Given the description of an element on the screen output the (x, y) to click on. 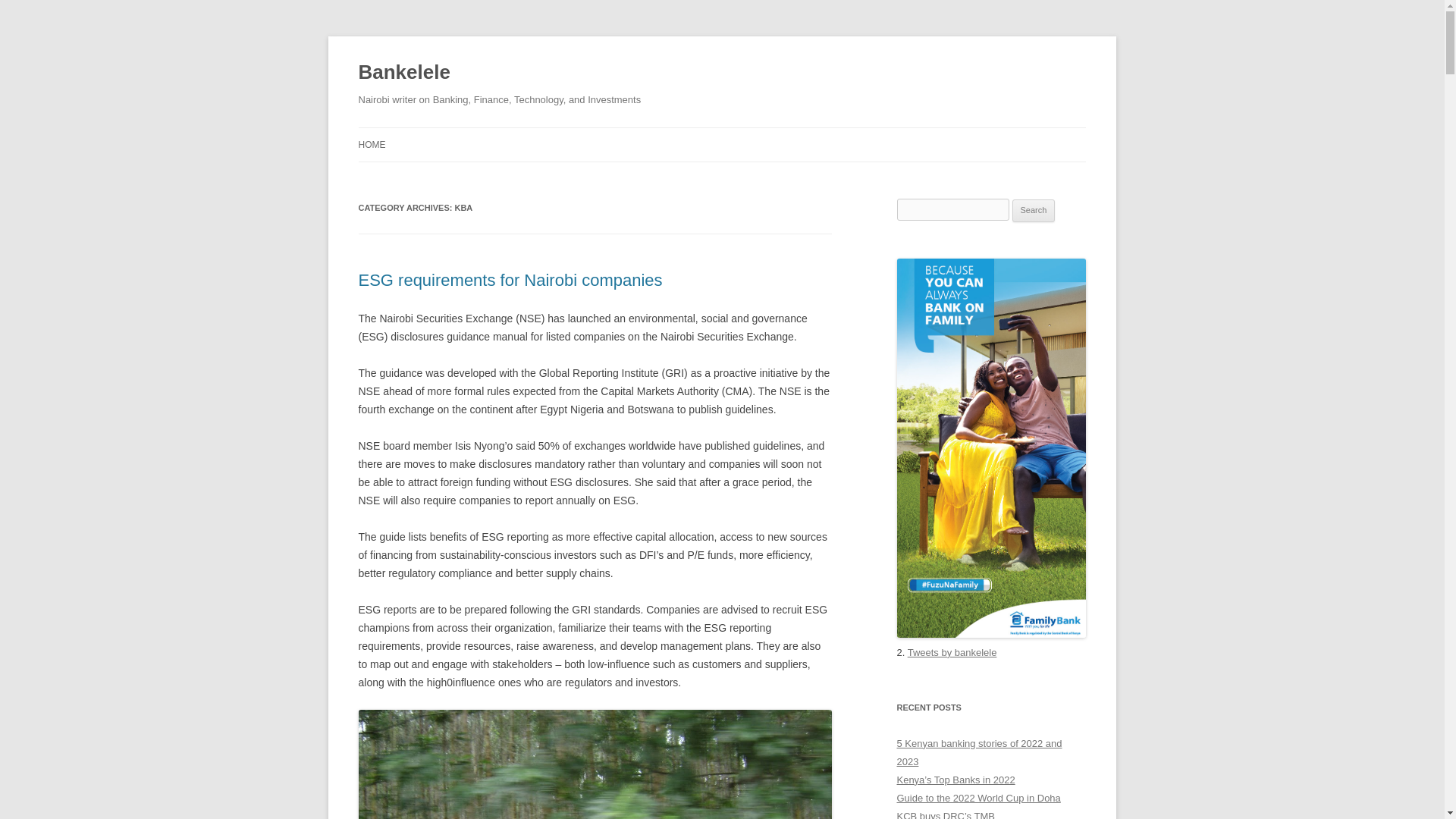
Search (1033, 210)
ESG requirements for Nairobi companies (510, 280)
Bankelele (403, 72)
